Given the description of an element on the screen output the (x, y) to click on. 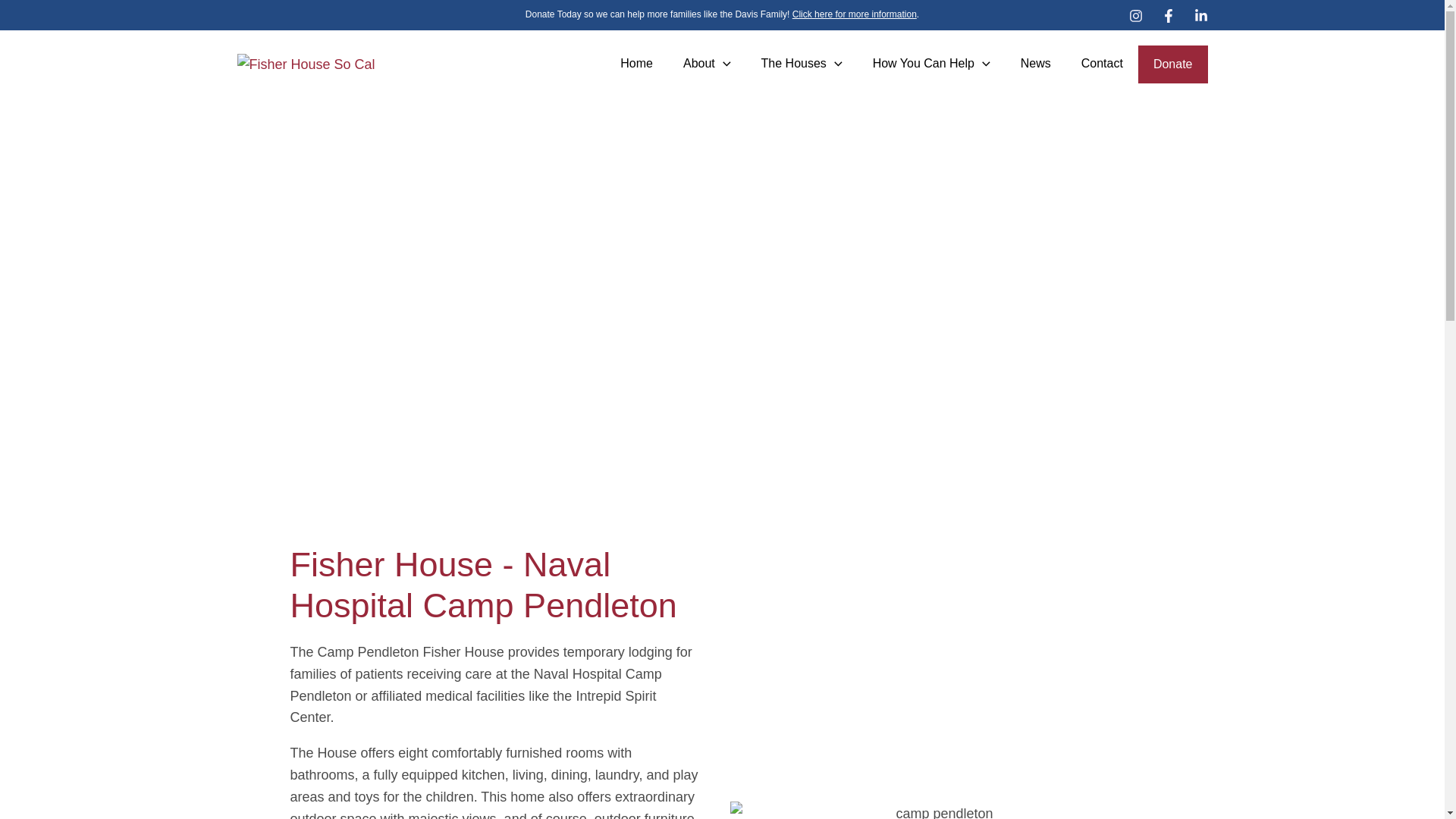
About (706, 64)
Home (636, 64)
Contact (1102, 64)
Donate (1172, 64)
The Houses (802, 64)
News (1035, 64)
Click here for more information (854, 14)
Naval Hospital Camp Pendleton 1 (938, 810)
How You Can Help (930, 64)
